Given the description of an element on the screen output the (x, y) to click on. 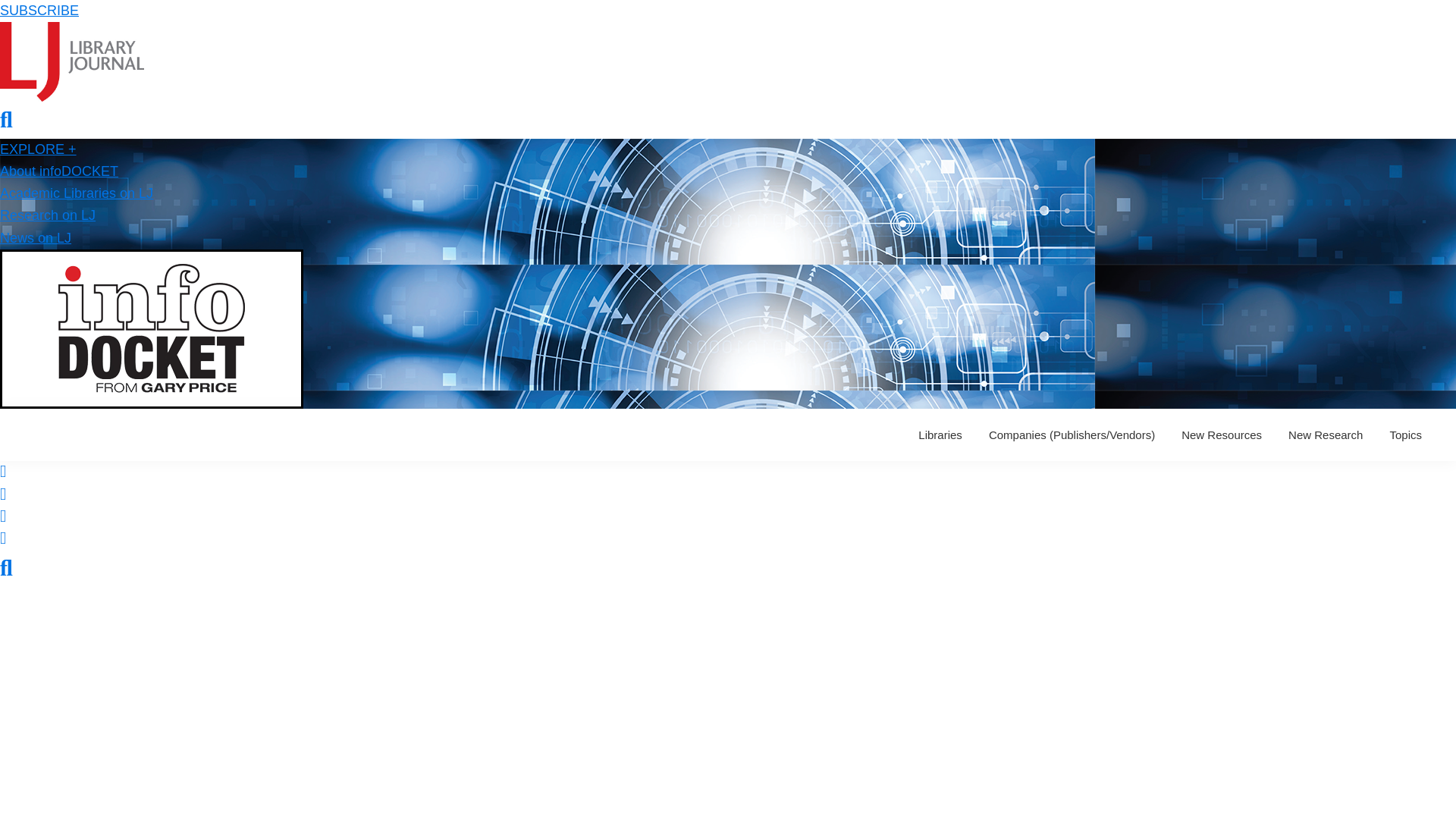
Research on LJ (48, 215)
About infoDOCKET (58, 171)
Libraries (940, 434)
SUBSCRIBE (39, 10)
Academic Libraries on LJ (76, 192)
New Research (1325, 434)
New Resources (1221, 434)
News on LJ (35, 237)
